Given the description of an element on the screen output the (x, y) to click on. 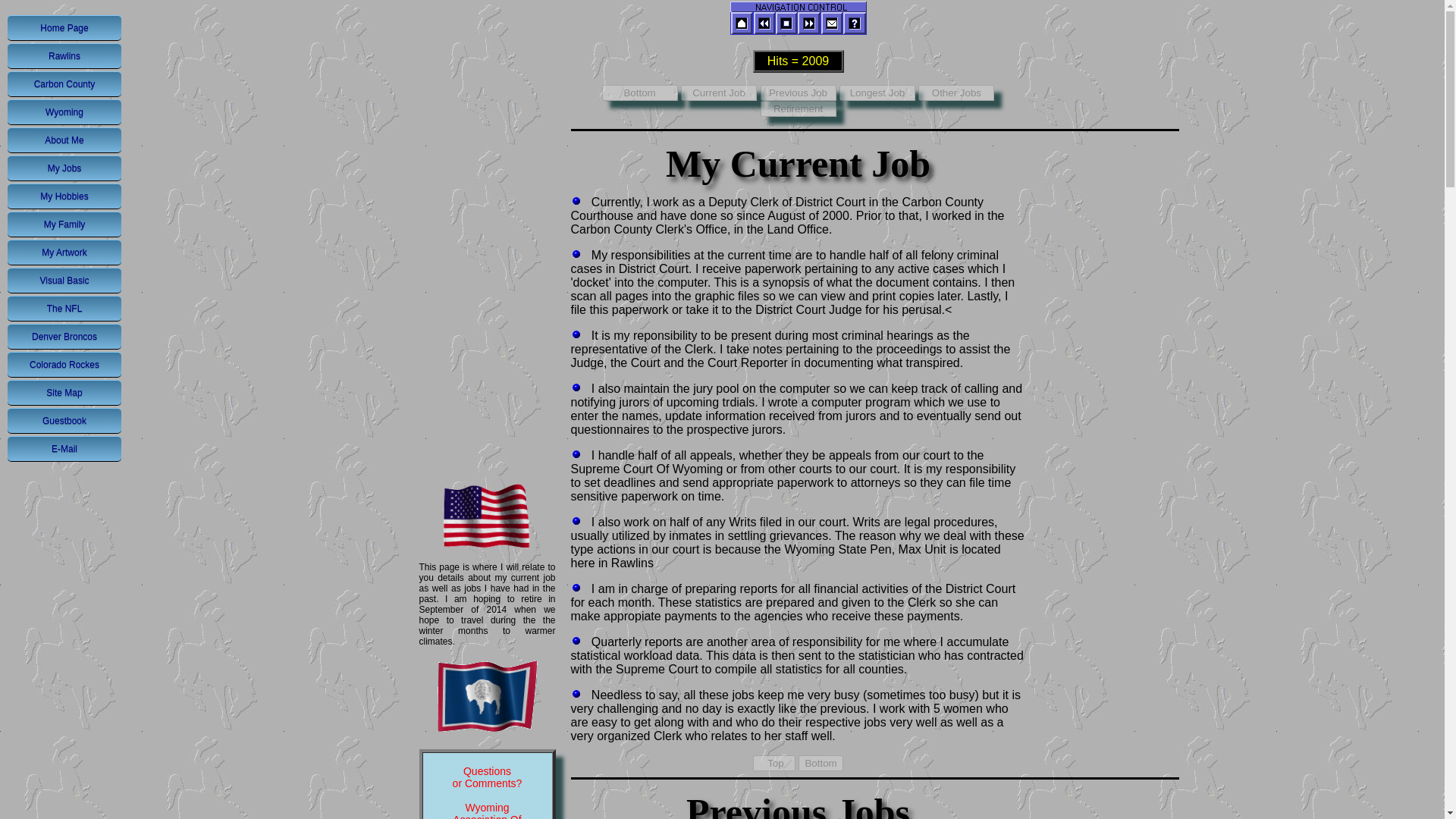
Denver Broncos (63, 336)
My Family (63, 224)
US Flag (487, 515)
Carbon County (63, 84)
About Me (63, 140)
Bottom (640, 92)
Colorado Rockes (63, 364)
Other Jobs (956, 92)
Bottom (820, 763)
Reload (785, 23)
Visual Basic (63, 280)
Guestbook (63, 420)
My Artwork (63, 252)
Longest Job (877, 92)
Next (809, 23)
